Given the description of an element on the screen output the (x, y) to click on. 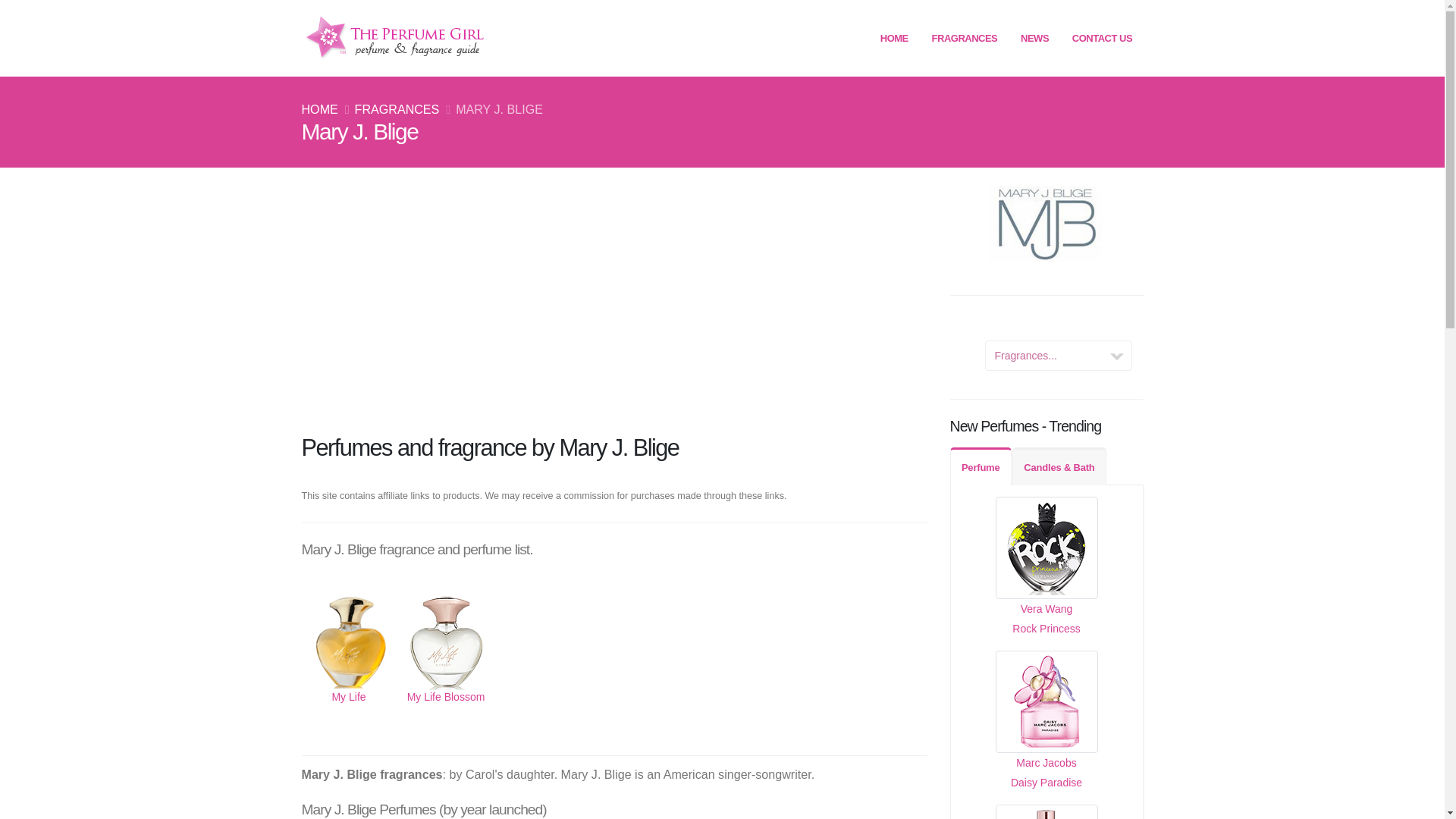
FRAGRANCES (964, 38)
My Life (348, 668)
HOME (319, 109)
My Life Blossom (445, 668)
FRAGRANCES (397, 109)
CONTACT US (1101, 38)
